Given the description of an element on the screen output the (x, y) to click on. 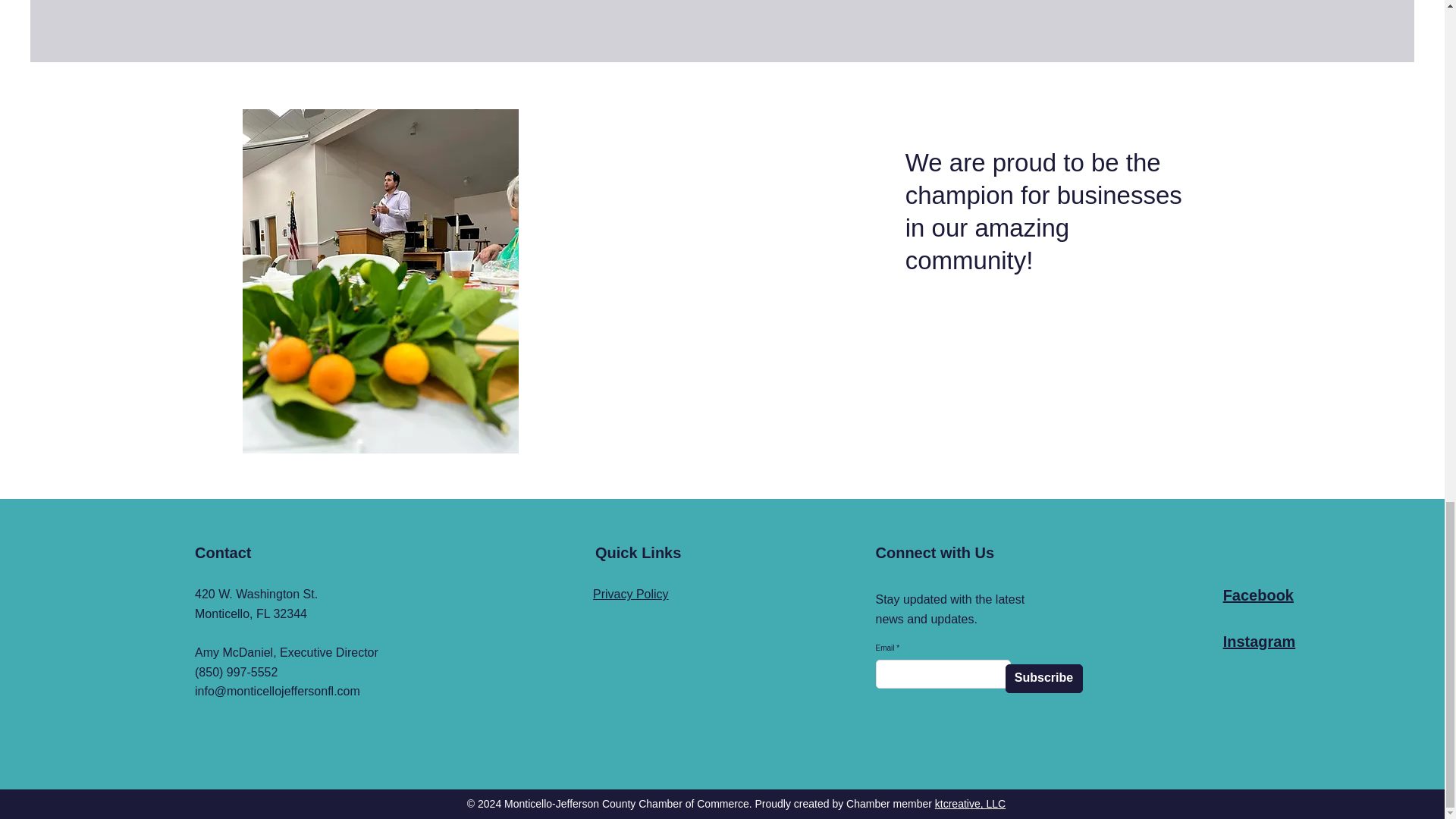
Privacy Policy (630, 594)
ktcreative, LLC (970, 803)
Instagram (1259, 641)
Facebook (1258, 595)
Subscribe (1044, 678)
